Given the description of an element on the screen output the (x, y) to click on. 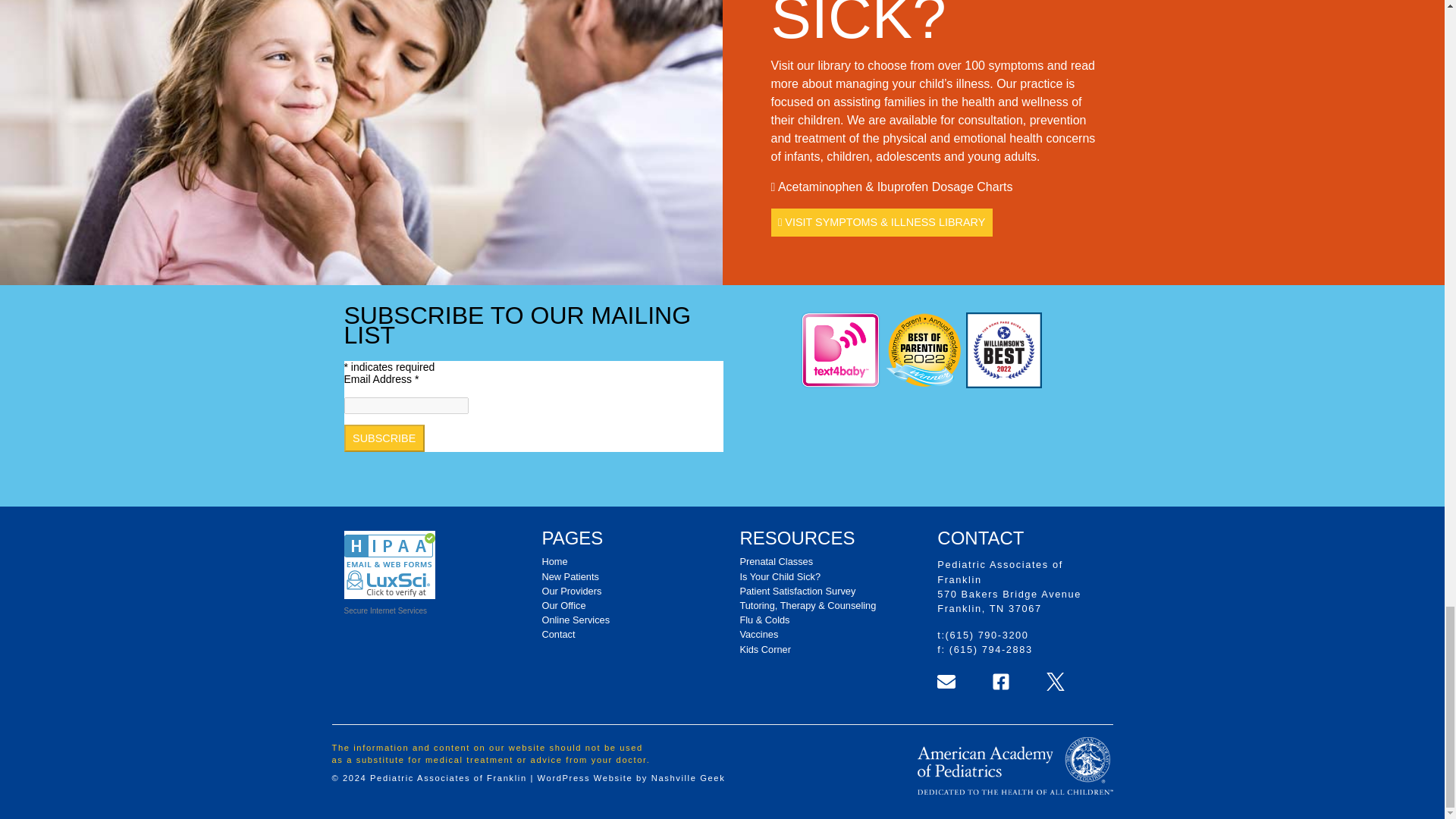
Subscribe (384, 438)
Subscribe (384, 438)
